Given the description of an element on the screen output the (x, y) to click on. 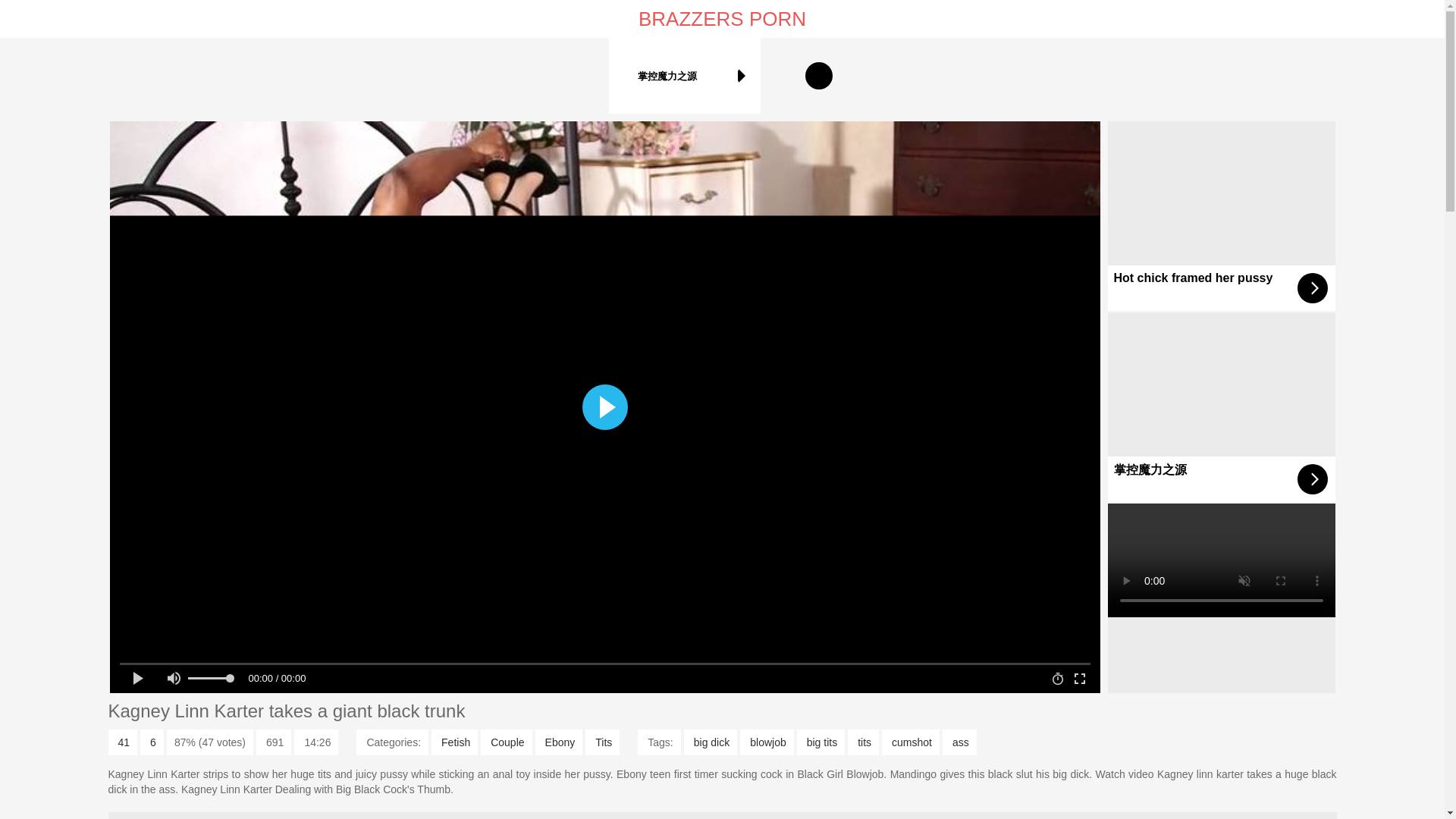
BRAZZERS PORN (722, 18)
I Like It! (121, 742)
Ebony (559, 742)
big tits (820, 742)
41 (121, 742)
6 (151, 742)
Tits (602, 742)
ass (959, 742)
Hot chick framed her pussy (1220, 216)
Couple (505, 742)
big dick (710, 742)
tits (863, 742)
cumshot (910, 742)
Don't Like! (151, 742)
Fetish (453, 742)
